Given the description of an element on the screen output the (x, y) to click on. 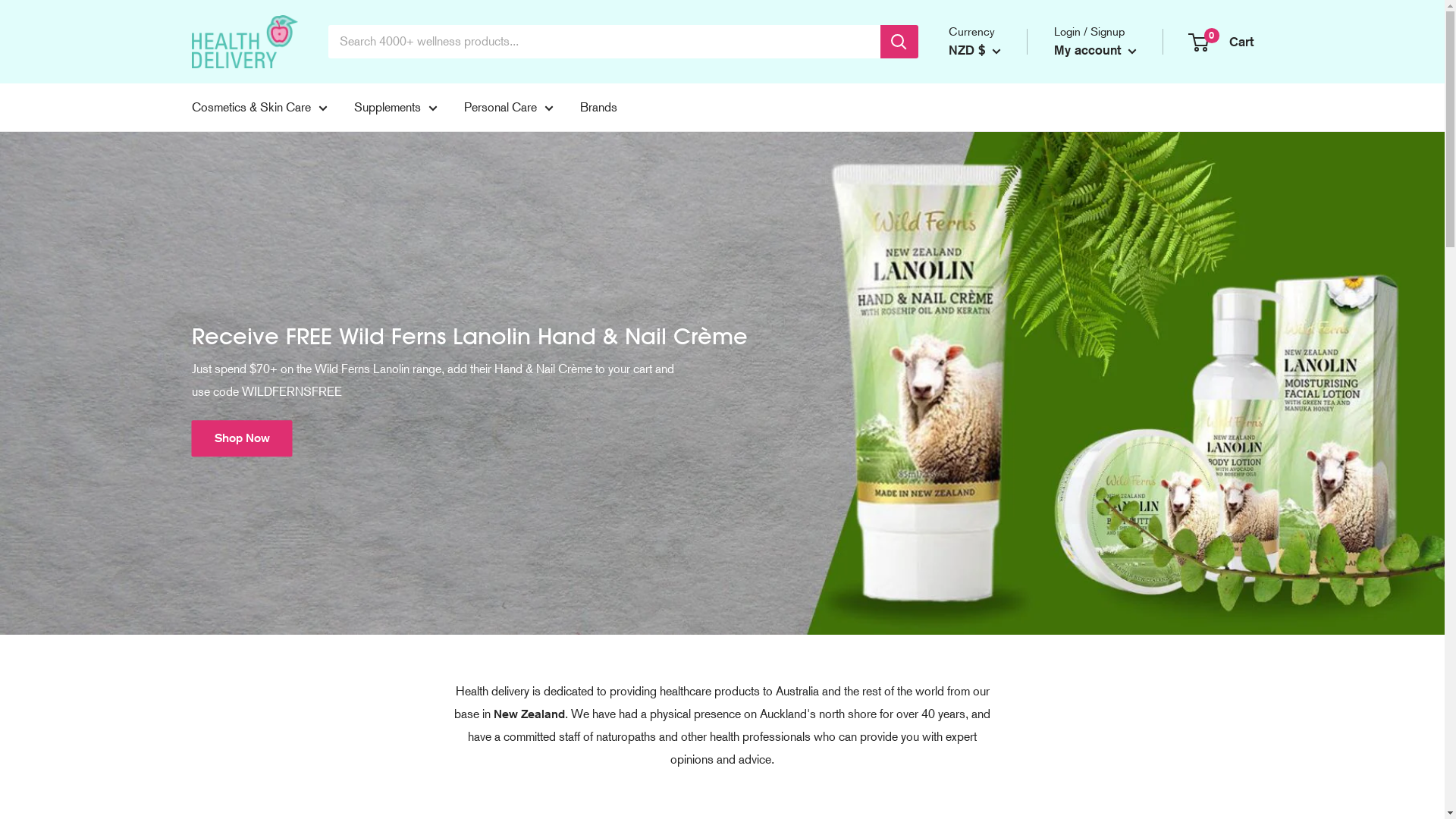
HKD Element type: text (987, 222)
My account Element type: text (1095, 49)
AUD Element type: text (987, 106)
EUR Element type: text (987, 175)
ILS Element type: text (987, 244)
TWD Element type: text (987, 384)
GBP Element type: text (987, 198)
Supplements Element type: text (394, 107)
Health Delivery Element type: text (244, 41)
SGD Element type: text (987, 360)
Shop Now Element type: text (241, 438)
NZD $ Element type: text (973, 49)
Personal Care Element type: text (508, 107)
0
Cart Element type: text (1220, 41)
CAD Element type: text (987, 129)
NZD Element type: text (987, 314)
Cosmetics & Skin Care Element type: text (258, 107)
KRW Element type: text (987, 291)
CNY Element type: text (987, 152)
PHP Element type: text (987, 338)
Brands Element type: text (597, 107)
JPY Element type: text (987, 268)
USD Element type: text (987, 407)
